Given the description of an element on the screen output the (x, y) to click on. 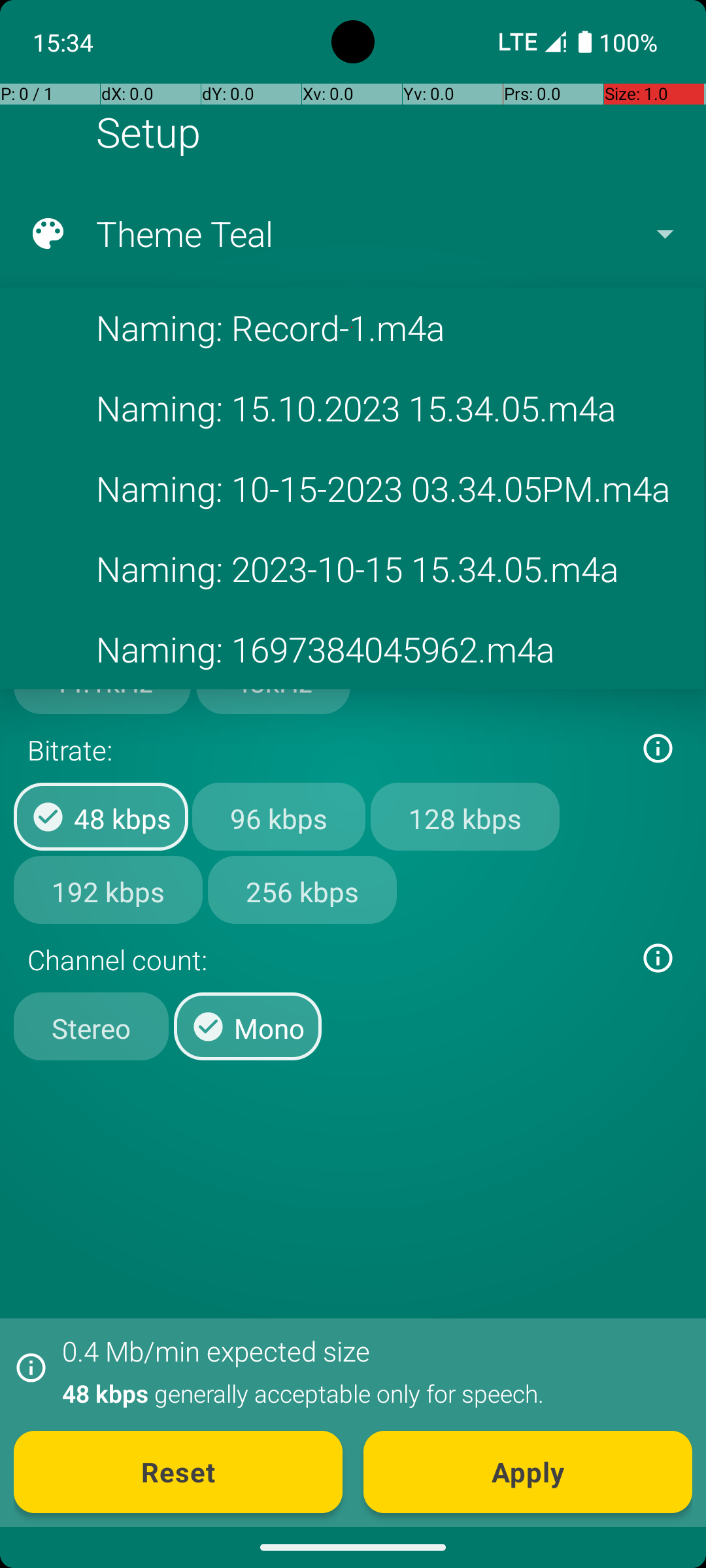
Naming: 15.10.2023 15.34.05.m4a Element type: android.widget.TextView (352, 407)
Naming: 10-15-2023 03.34.05PM.m4a Element type: android.widget.TextView (352, 488)
Naming: 2023-10-15 15.34.05.m4a Element type: android.widget.TextView (352, 568)
Naming: 1697384045962.m4a Element type: android.widget.TextView (352, 648)
